Given the description of an element on the screen output the (x, y) to click on. 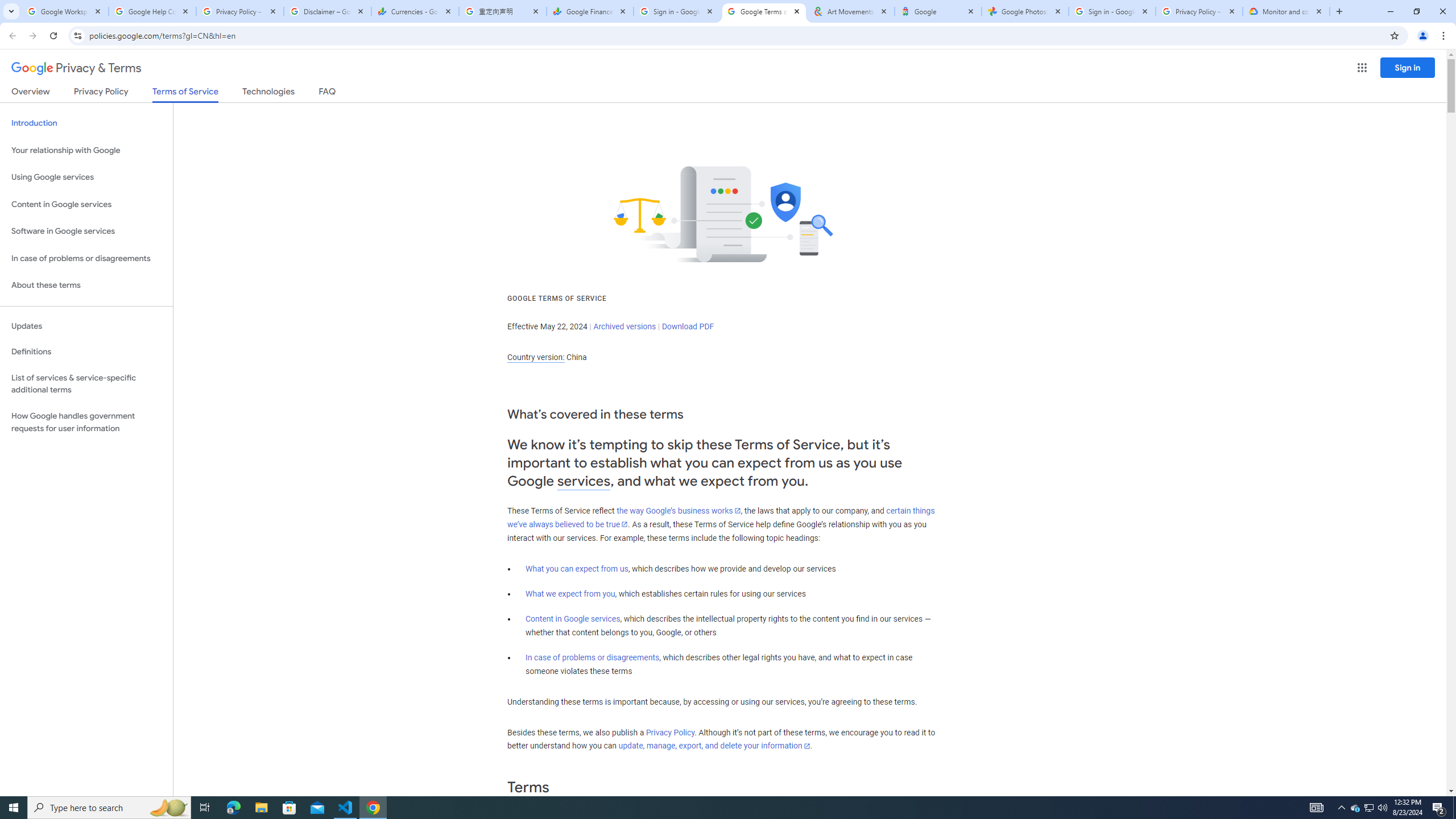
Currencies - Google Finance (415, 11)
Software in Google services (86, 230)
In case of problems or disagreements (592, 657)
Overview (30, 93)
Google (938, 11)
What you can expect from us (576, 568)
Using Google services (86, 176)
